Given the description of an element on the screen output the (x, y) to click on. 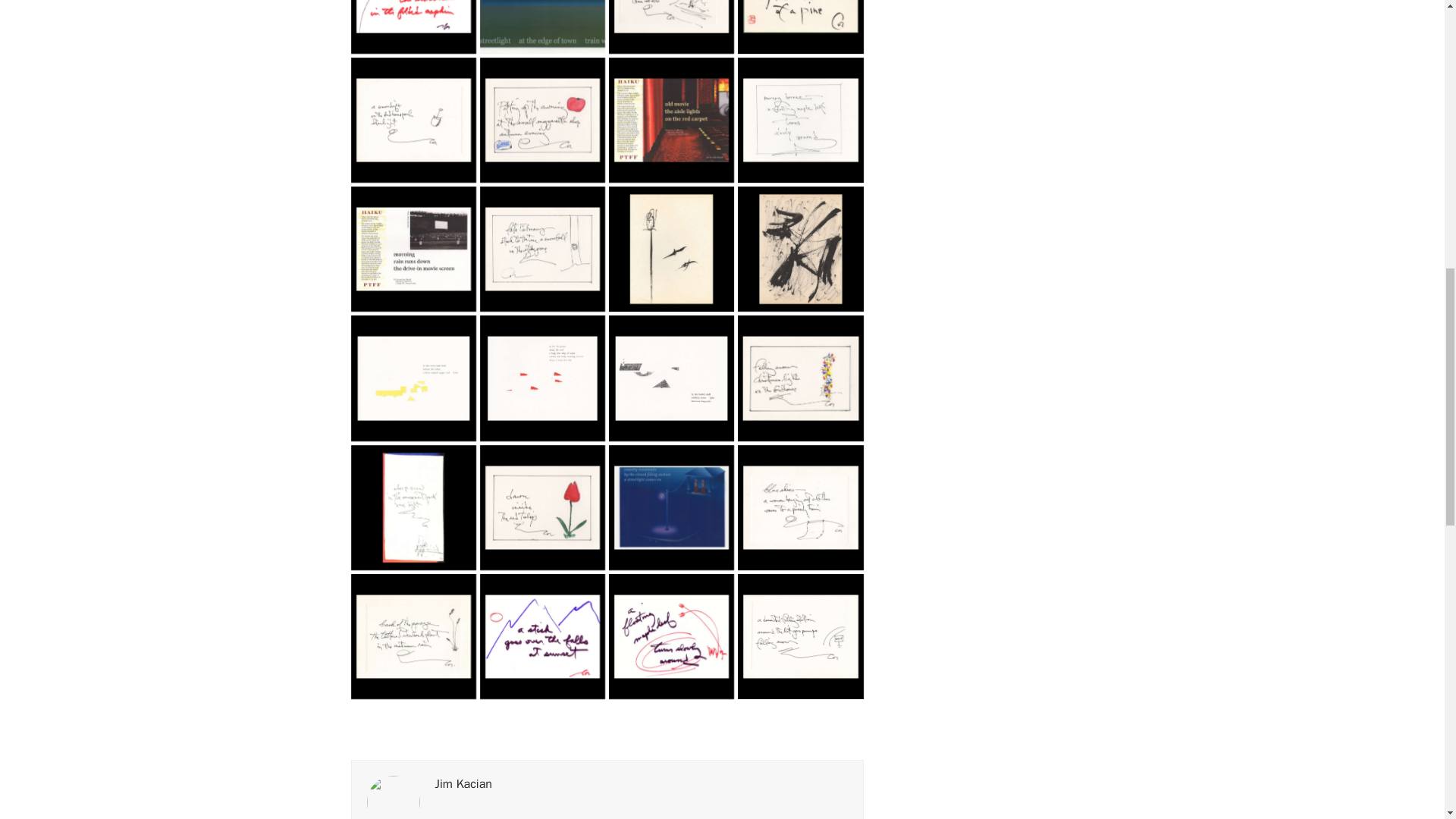
theshadow (413, 27)
thelaststreetlight (670, 27)
snowdrift (413, 119)
puttinguptheawning (542, 119)
thelaststreetlight3x (542, 27)
morningbreeze (800, 119)
oldmovie (670, 119)
sunset (800, 27)
